Given the description of an element on the screen output the (x, y) to click on. 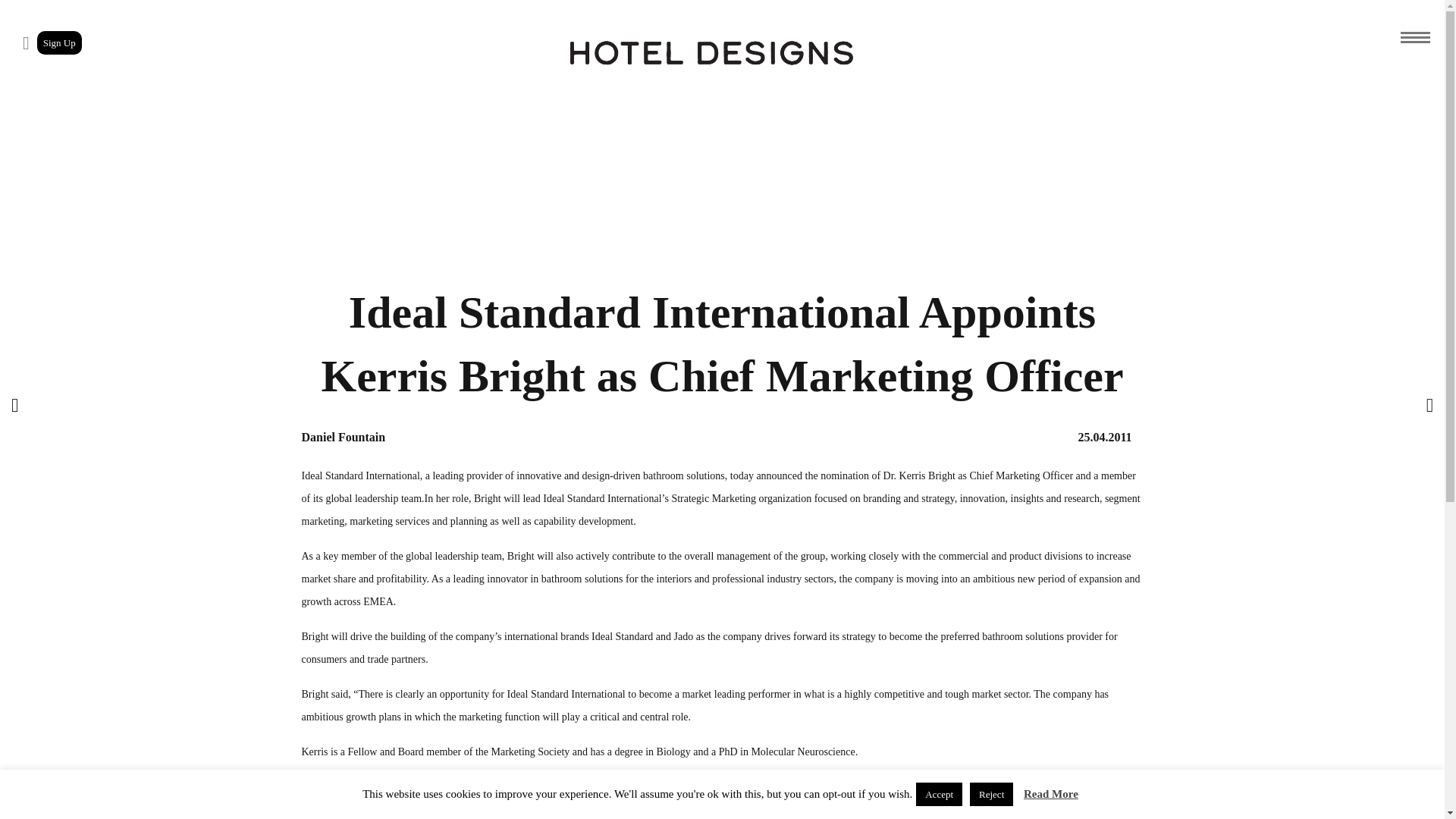
Hotel Designs (711, 52)
Sign Up (59, 42)
